Given the description of an element on the screen output the (x, y) to click on. 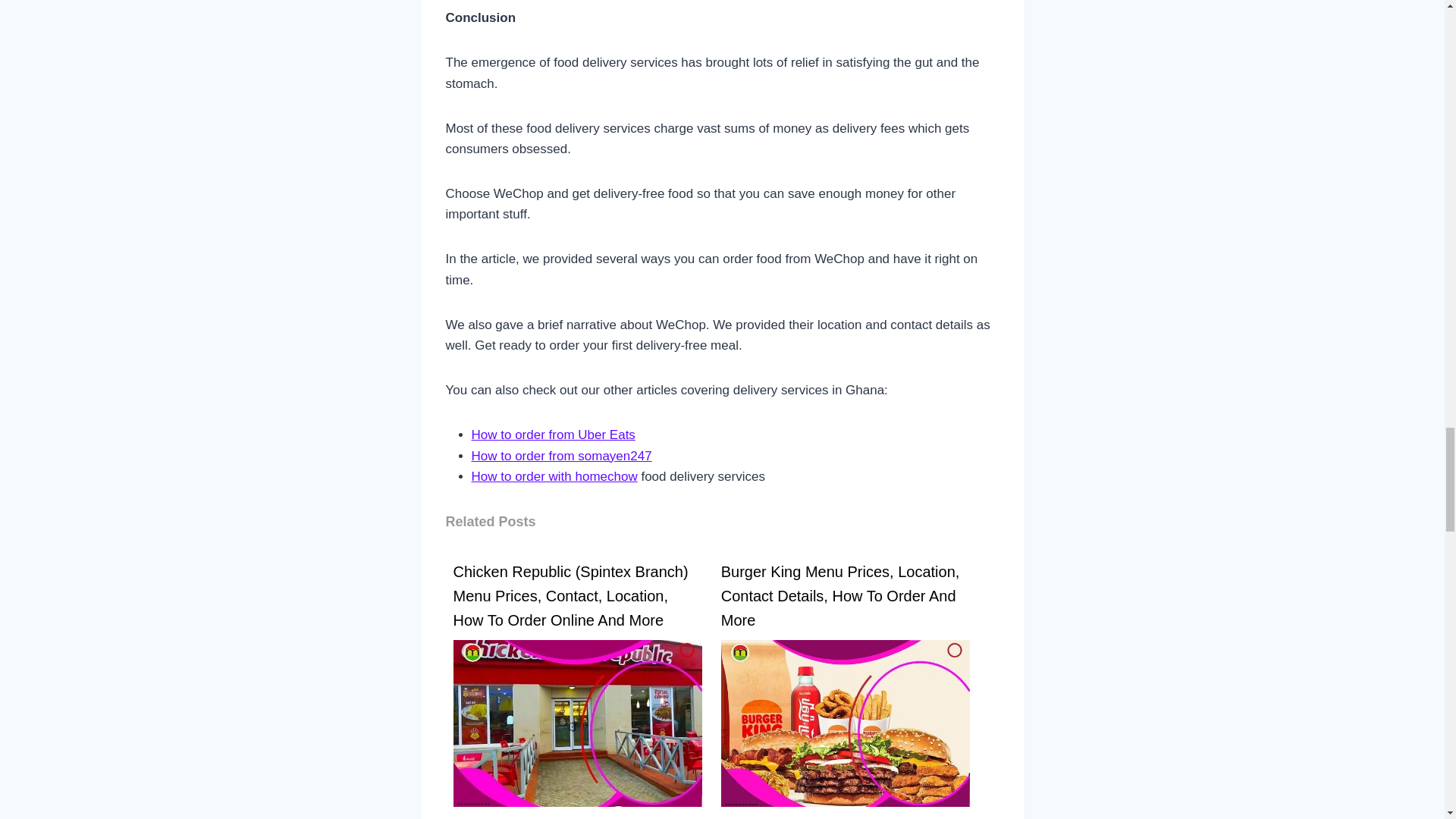
How to order from Uber Eats (552, 434)
How to order with homechow (554, 476)
How to order from somayen247 (561, 455)
